Given the description of an element on the screen output the (x, y) to click on. 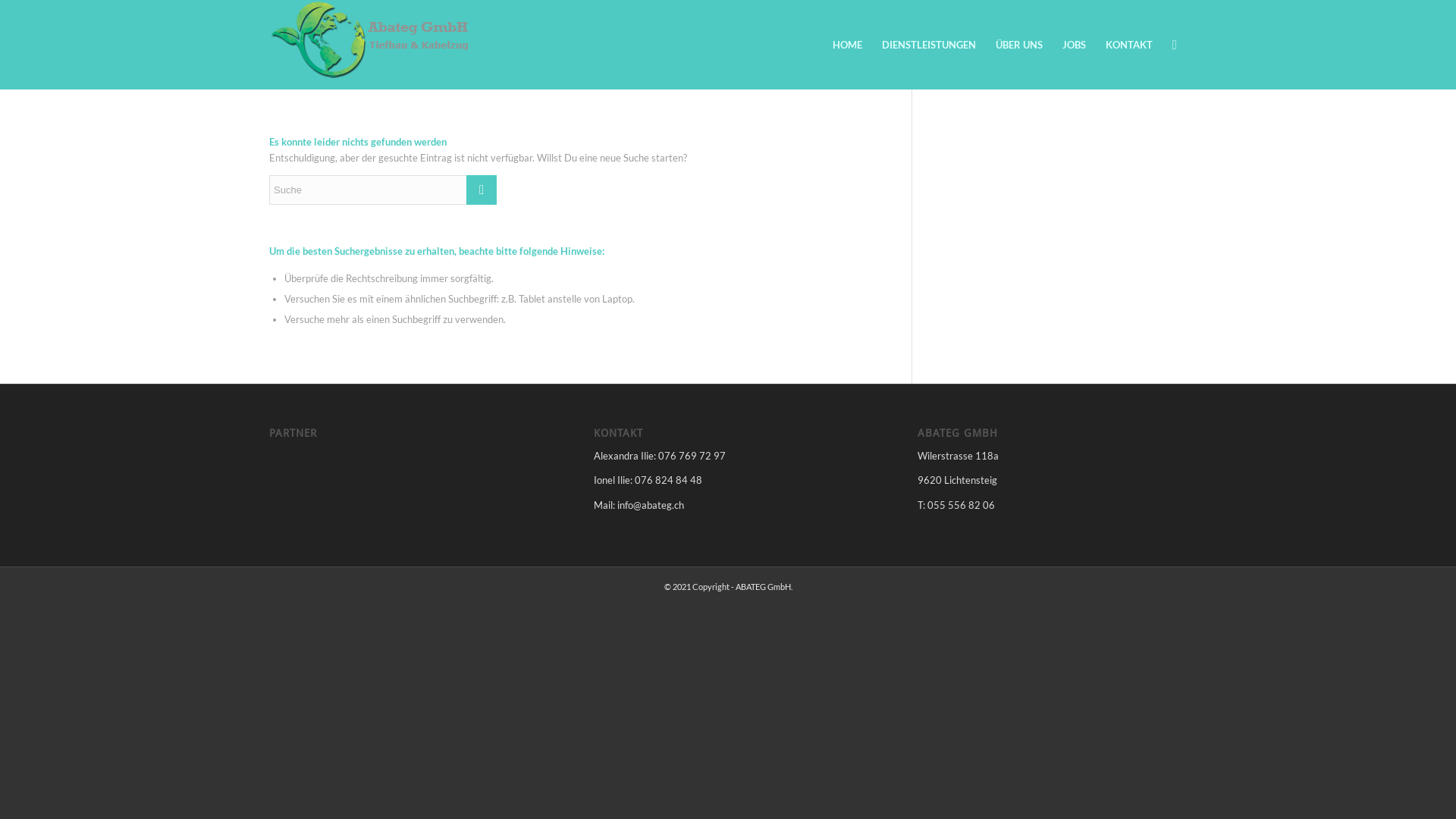
JOBS Element type: text (1073, 44)
KONTAKT Element type: text (1128, 44)
DIENSTLEISTUNGEN Element type: text (928, 44)
logo tiefbau Element type: hover (372, 39)
HOME Element type: text (847, 44)
